Given the description of an element on the screen output the (x, y) to click on. 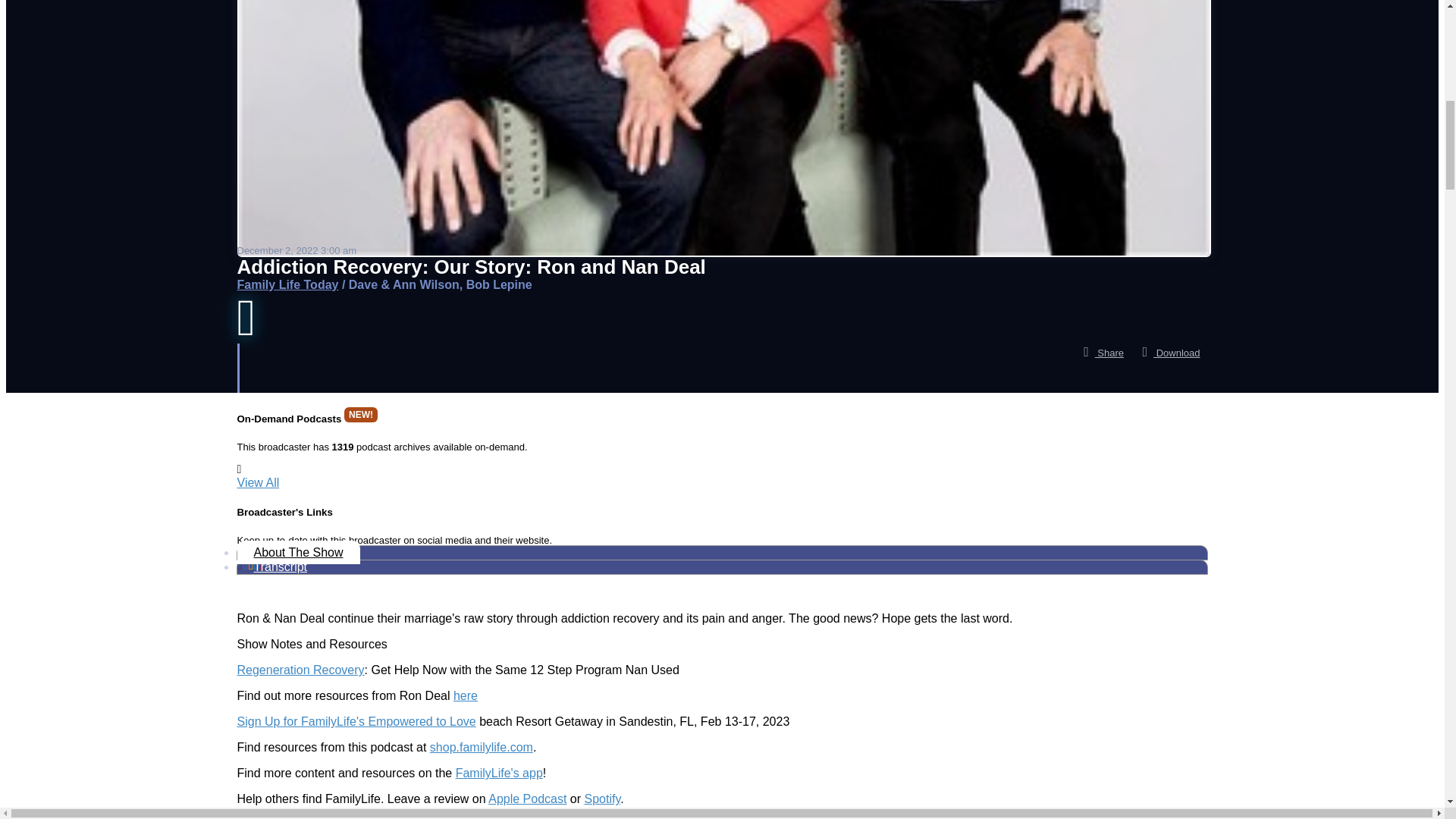
Go to Show Details (286, 284)
